Given the description of an element on the screen output the (x, y) to click on. 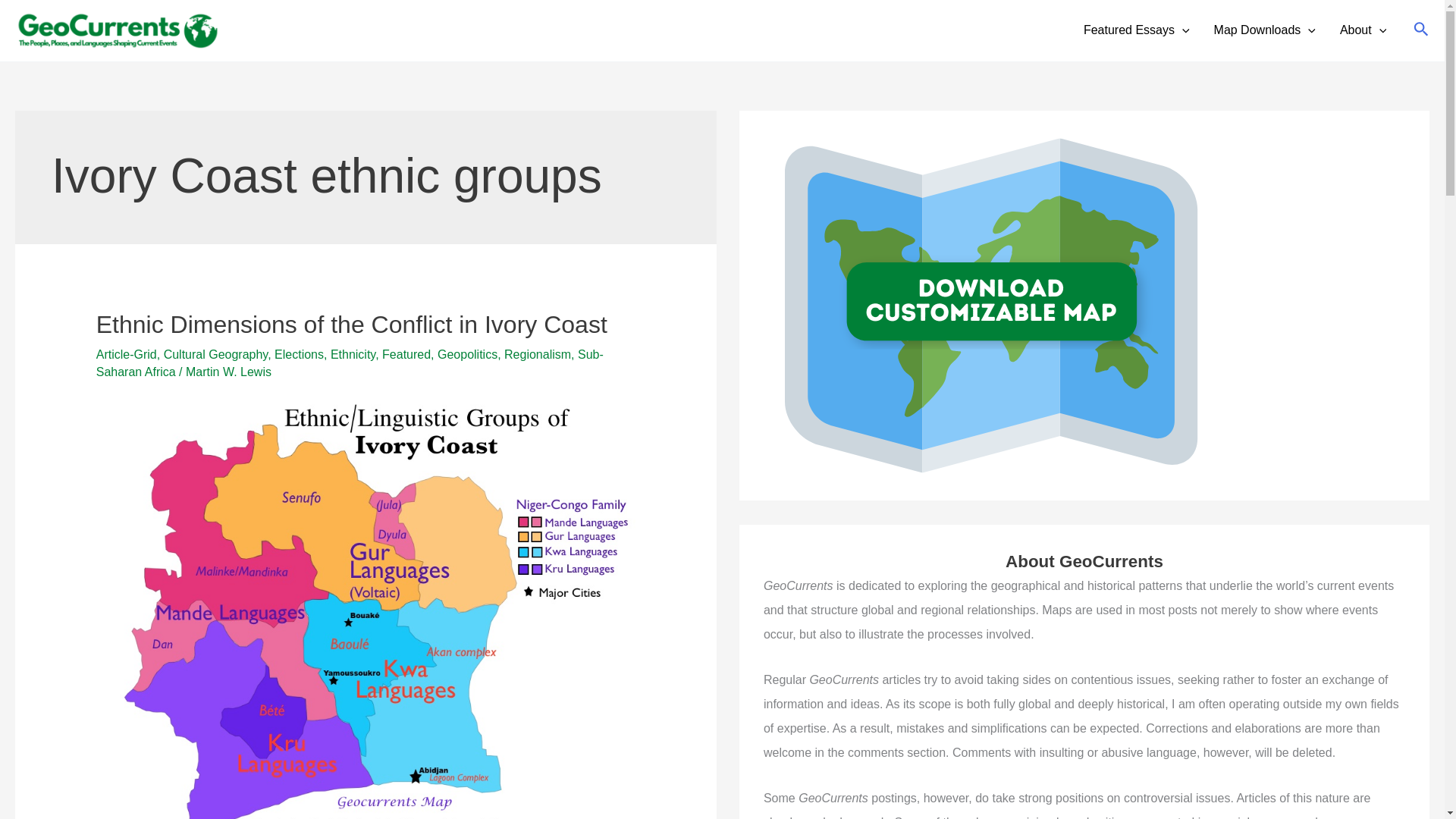
Featured Essays (1136, 30)
About (1362, 30)
Map Downloads (1264, 30)
View all posts by Martin W. Lewis (228, 371)
